Given the description of an element on the screen output the (x, y) to click on. 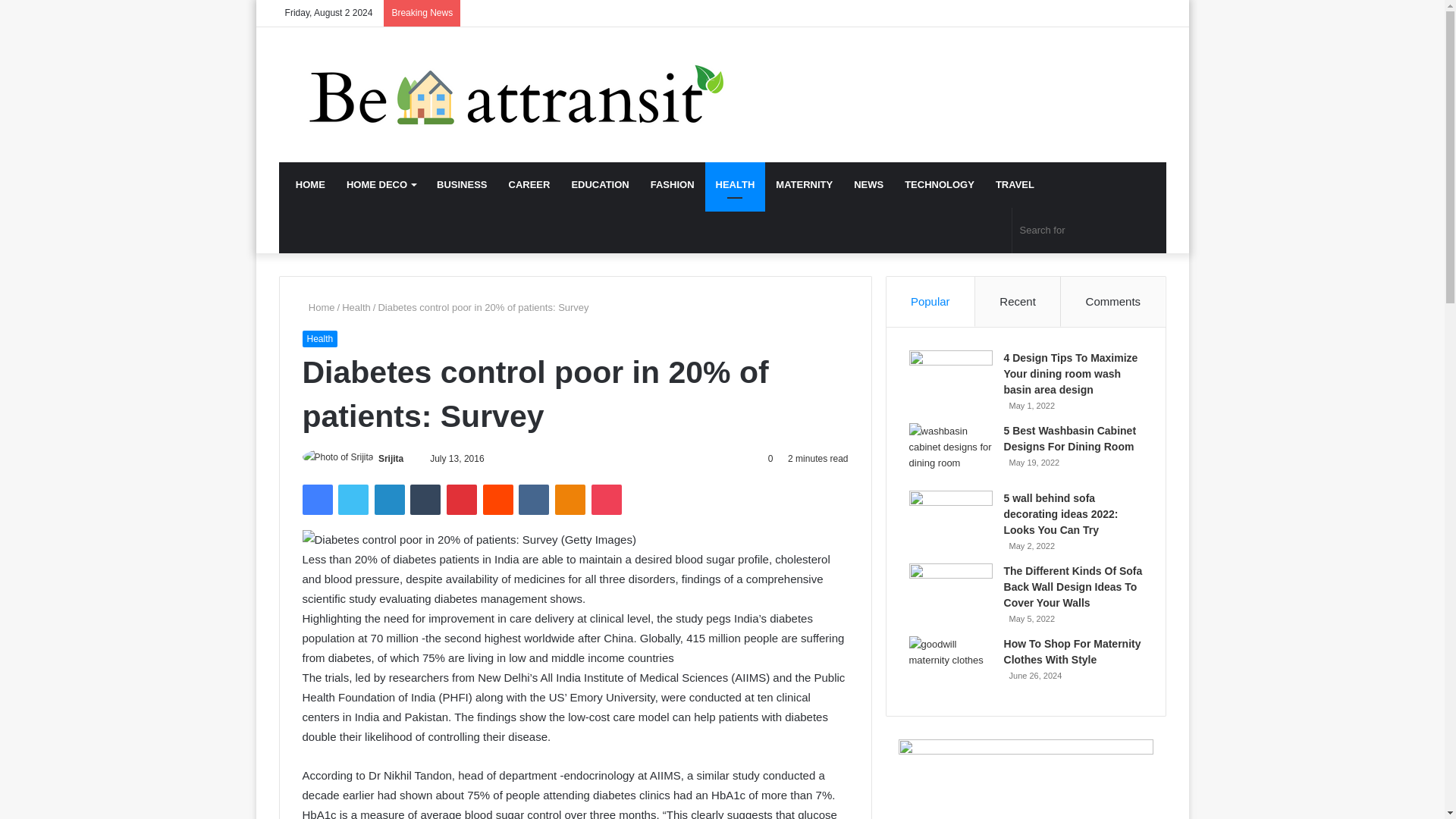
Health (356, 307)
BUSINESS (461, 185)
EDUCATION (599, 185)
CAREER (528, 185)
LinkedIn (389, 499)
TECHNOLOGY (939, 185)
Home (317, 307)
Twitter (352, 499)
VKontakte (533, 499)
TRAVEL (1015, 185)
